Given the description of an element on the screen output the (x, y) to click on. 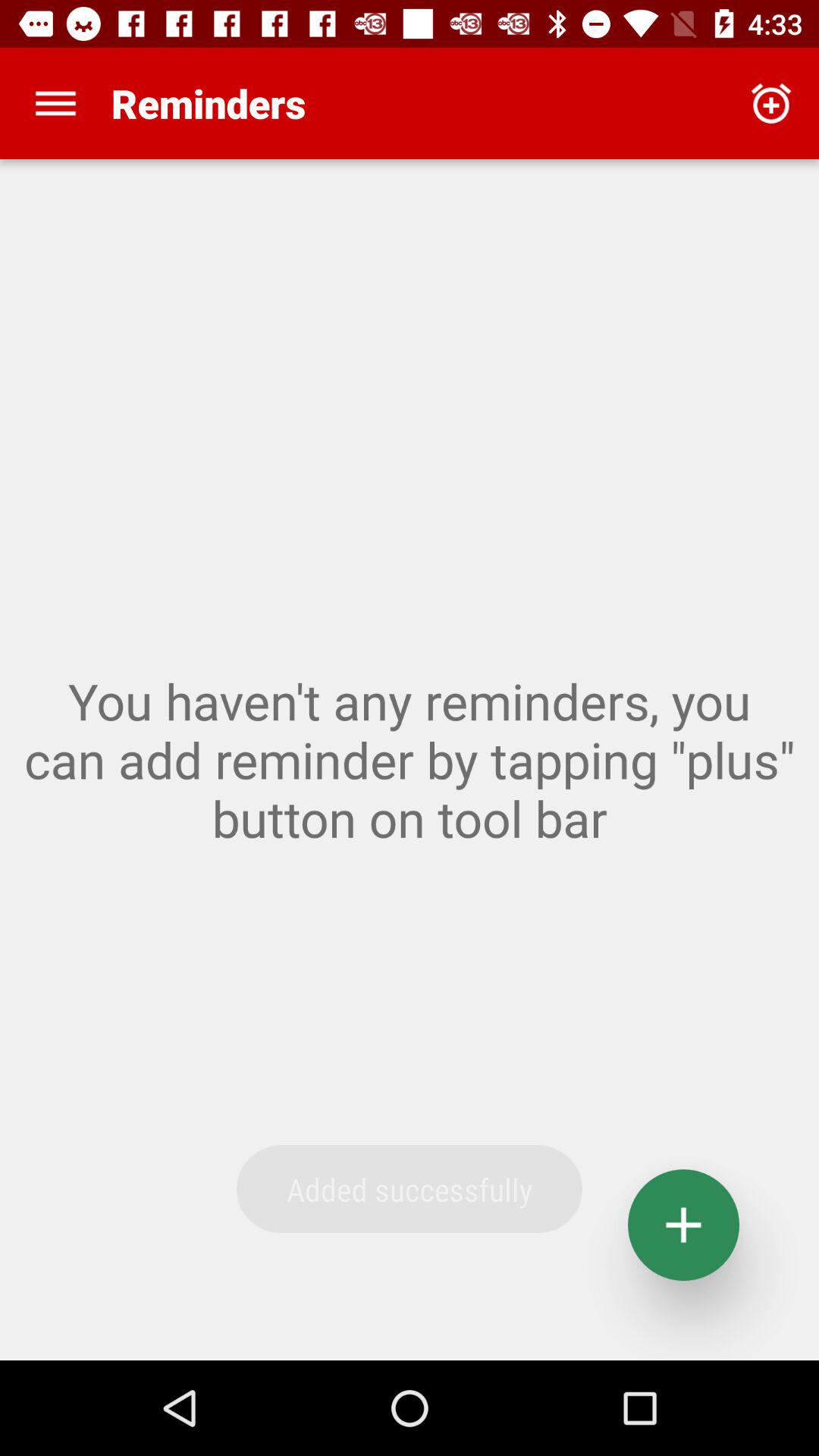
select item above you haven t app (55, 103)
